Given the description of an element on the screen output the (x, y) to click on. 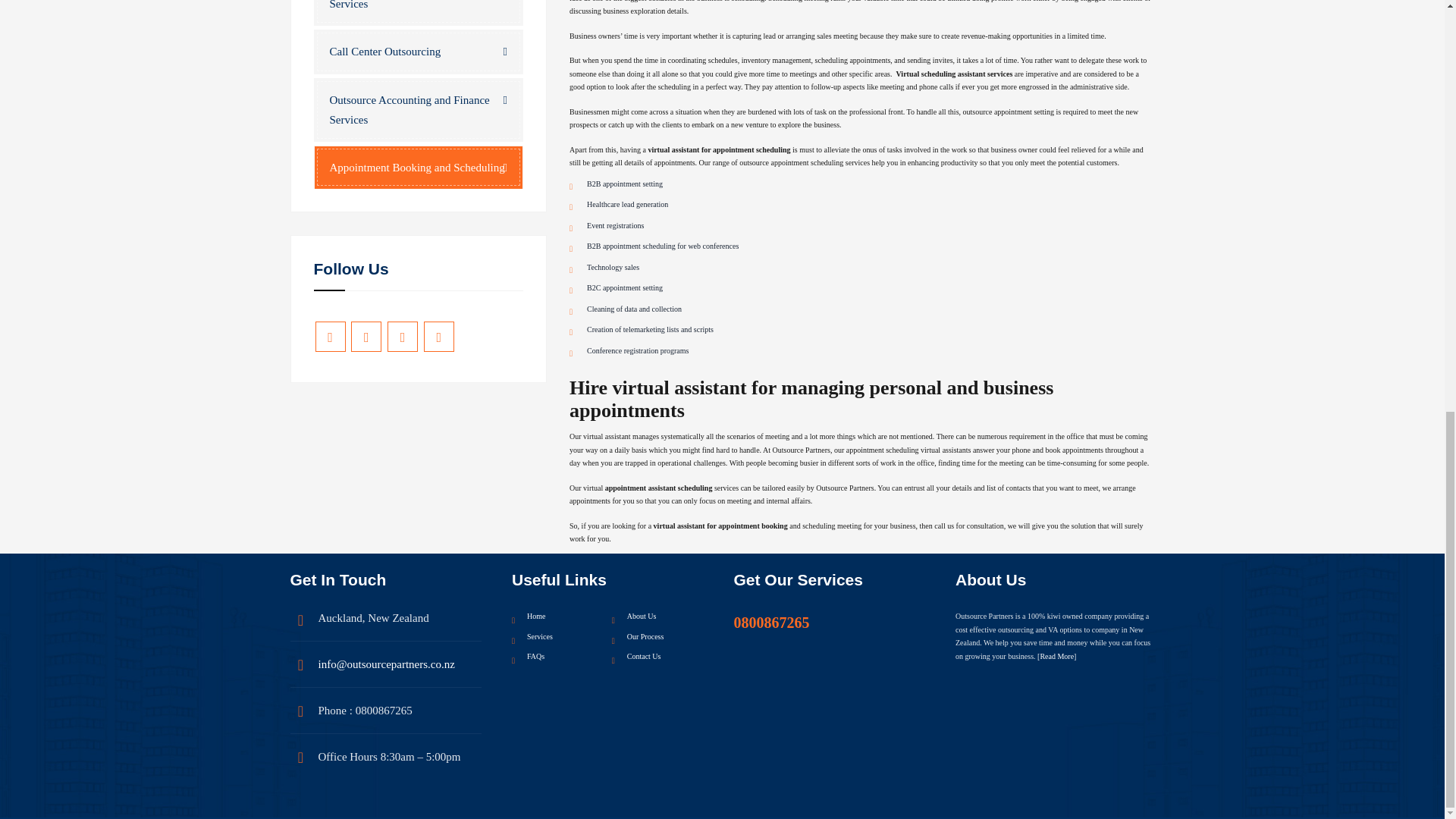
Call Center Outsourcing (418, 51)
Outsource Accounting and Finance Services (418, 108)
Outsource Account Management Services (418, 12)
